Given the description of an element on the screen output the (x, y) to click on. 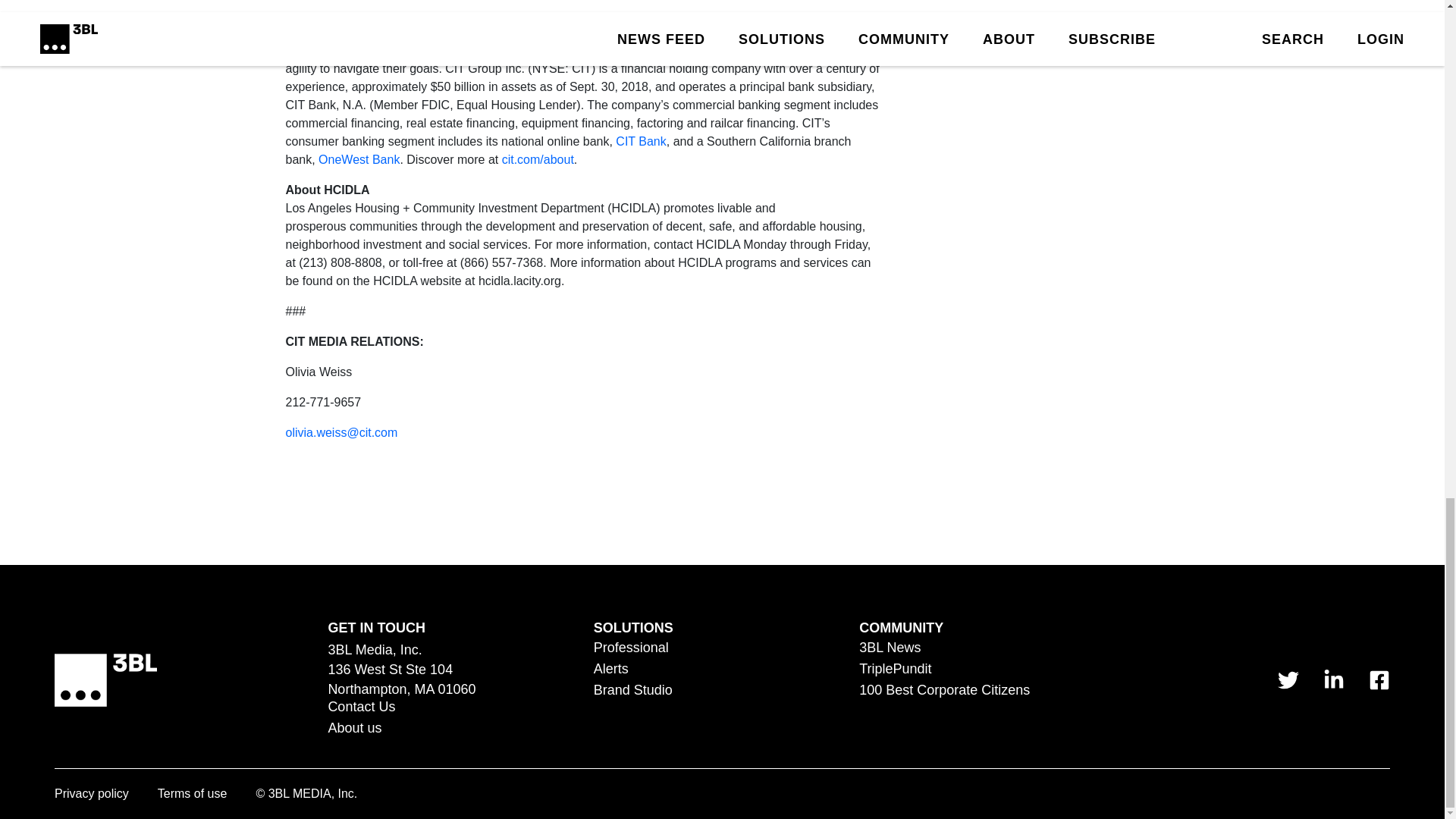
link to 3 B L Media's Facebook (1379, 680)
link to 3 B L Media's Twitter (1288, 680)
link to 3 B L Media's Linkedin (1333, 680)
